Given the description of an element on the screen output the (x, y) to click on. 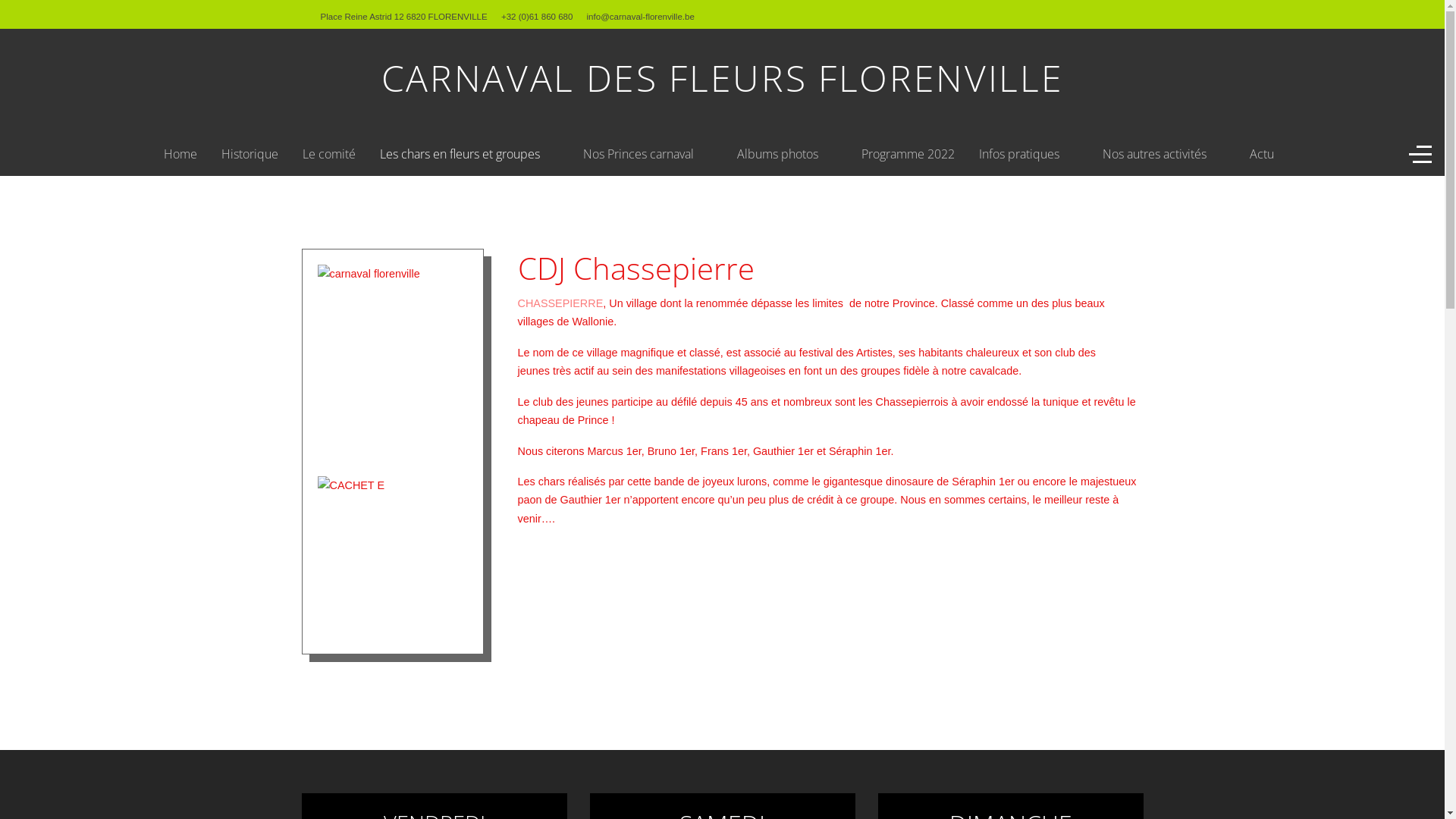
Actu Element type: text (1261, 153)
Albums photos Element type: text (786, 153)
+32 (0)61 860 680 Element type: text (536, 16)
CHASSEPIERRE Element type: text (559, 303)
Programme 2022 Element type: text (907, 153)
Historique Element type: text (249, 153)
Les chars en fleurs et groupes Element type: text (468, 153)
Home Element type: text (180, 153)
info@carnaval-florenville.be Element type: text (640, 16)
Nos Princes carnaval Element type: text (647, 153)
Infos pratiques Element type: text (1027, 153)
